Given the description of an element on the screen output the (x, y) to click on. 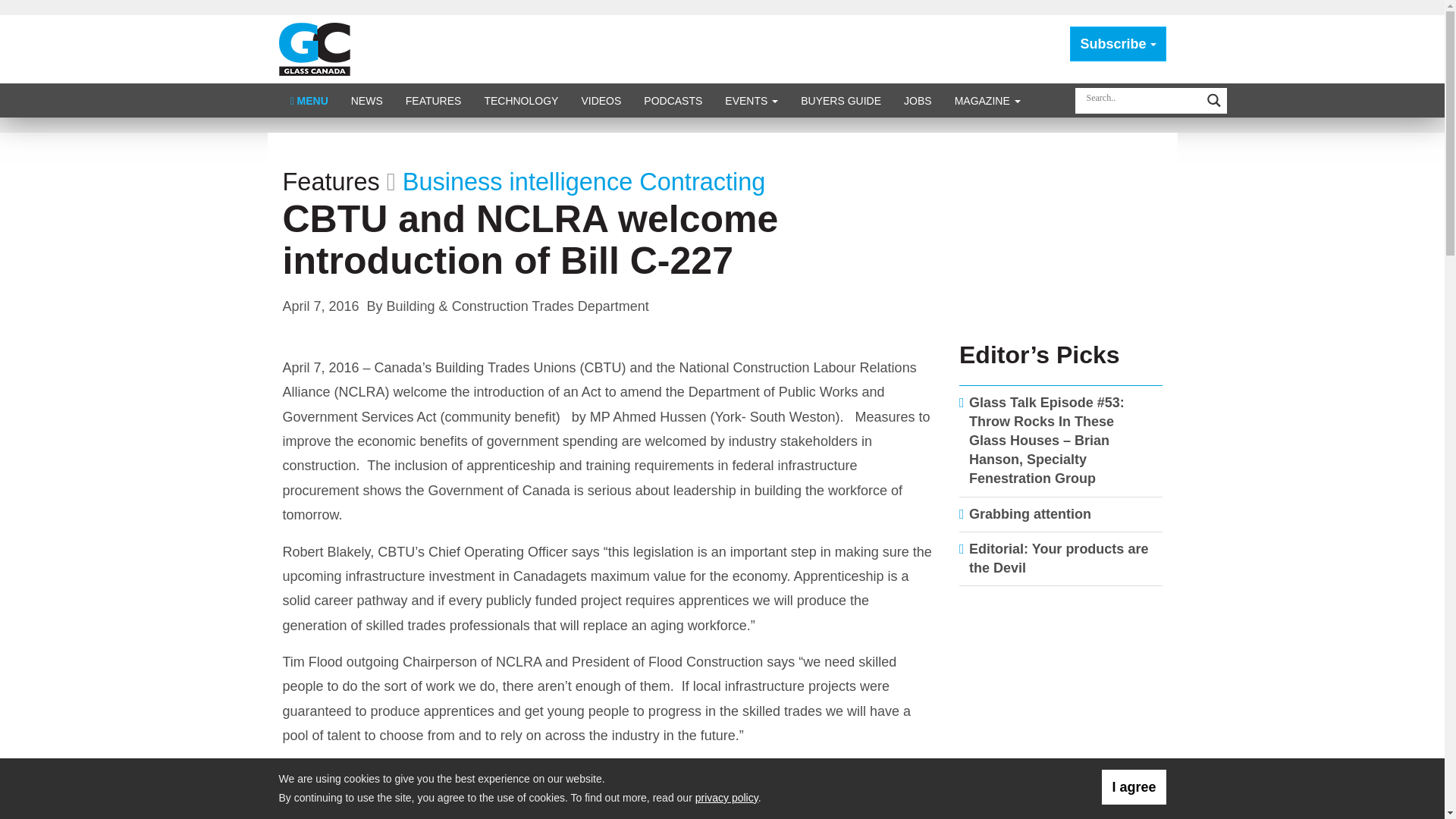
VIDEOS (600, 100)
Subscribe (1118, 43)
BUYERS GUIDE (840, 100)
Click to show site navigation (309, 100)
TECHNOLOGY (520, 100)
3rd party ad content (1060, 230)
Glass Canada (314, 48)
PODCASTS (672, 100)
JOBS (917, 100)
3rd party ad content (1060, 696)
FEATURES (433, 100)
MAGAZINE (987, 100)
NEWS (366, 100)
EVENTS (751, 100)
MENU (309, 100)
